Given the description of an element on the screen output the (x, y) to click on. 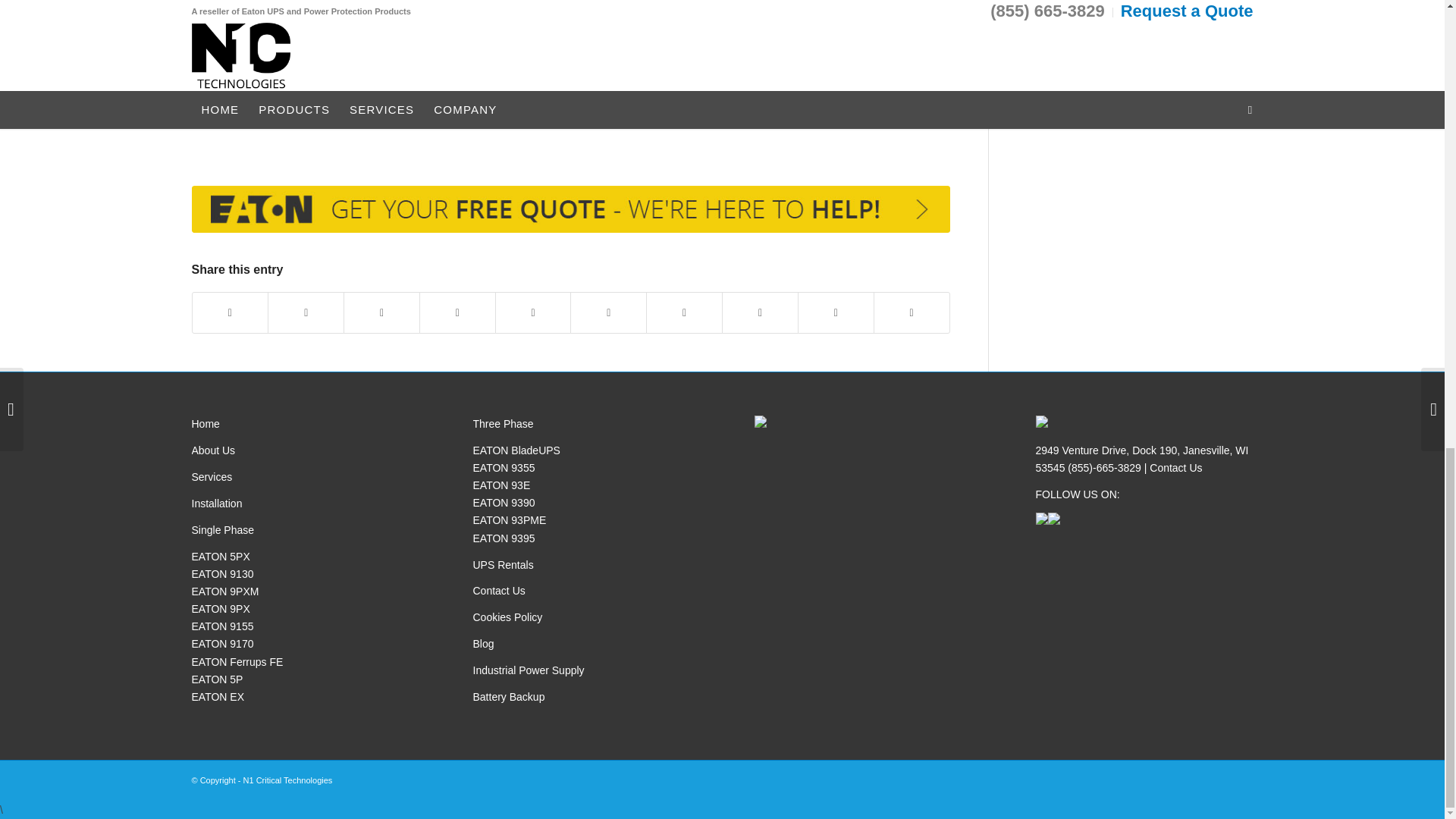
UPS Maintenance Bypass (654, 24)
advertisement-image-yellow (569, 209)
